Given the description of an element on the screen output the (x, y) to click on. 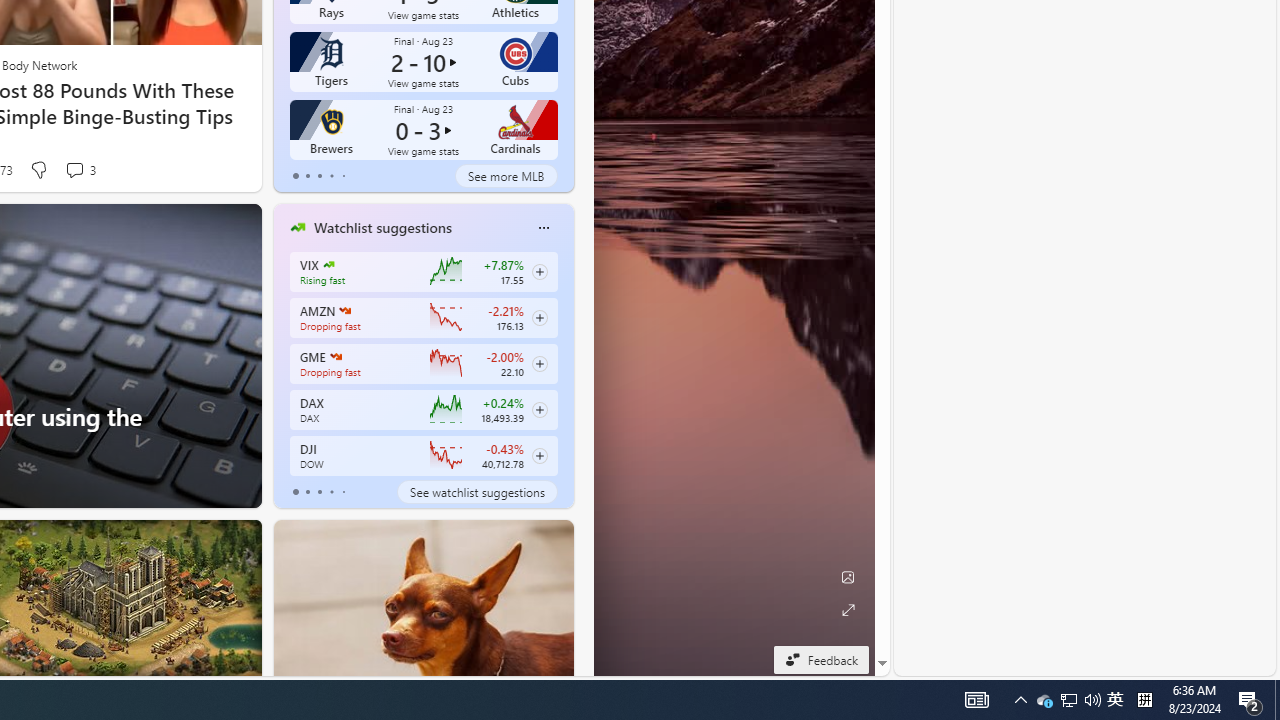
Expand background (847, 610)
View comments 3 Comment (74, 169)
tab-2 (319, 491)
Edit Background (847, 577)
View comments 3 Comment (79, 170)
tab-3 (331, 491)
tab-0 (295, 491)
tab-4 (342, 491)
Class: icon-img (543, 228)
GAMESTOP CORP. (334, 356)
